Given the description of an element on the screen output the (x, y) to click on. 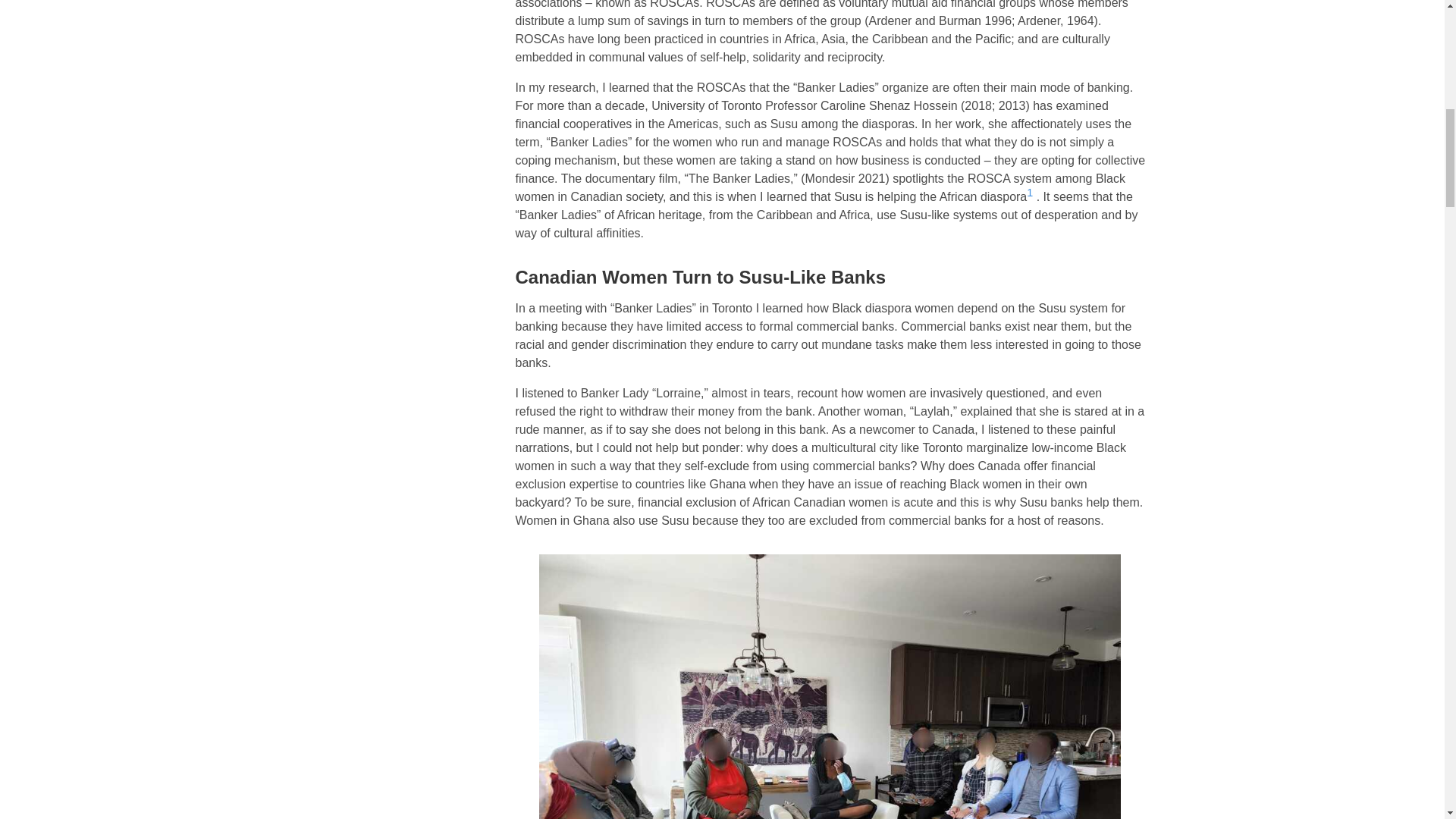
1 (1029, 192)
